Given the description of an element on the screen output the (x, y) to click on. 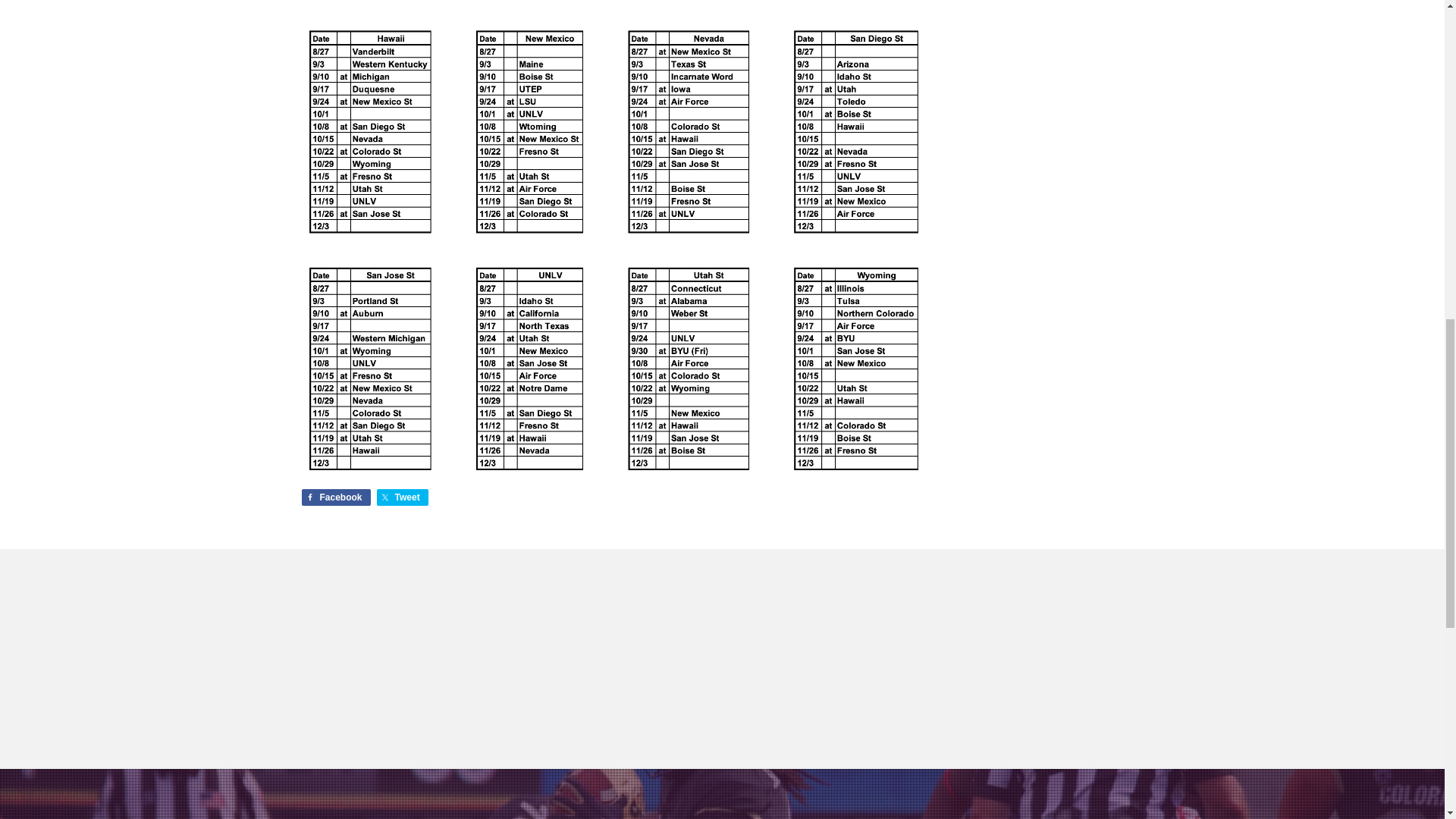
3rd party ad content (1046, 96)
Share on Facebook (336, 497)
Facebook (336, 497)
Share on Twitter (402, 497)
Tweet (402, 497)
